Given the description of an element on the screen output the (x, y) to click on. 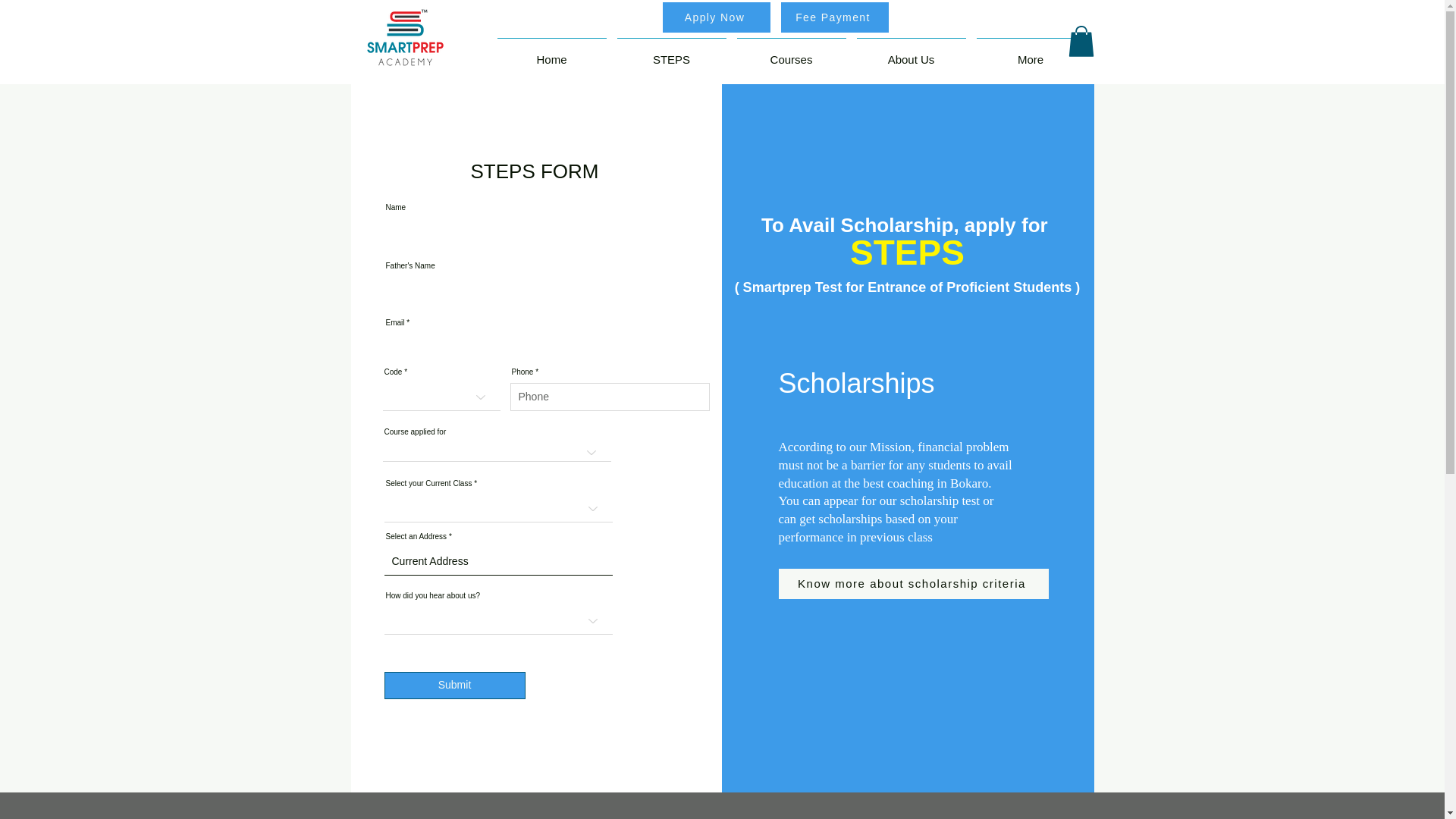
Courses (790, 52)
Apply Now (716, 17)
Submit (454, 685)
STEPS (670, 52)
Home (551, 52)
Fee Payment (834, 17)
About Us (910, 52)
Know more about scholarship criteria (912, 583)
